Given the description of an element on the screen output the (x, y) to click on. 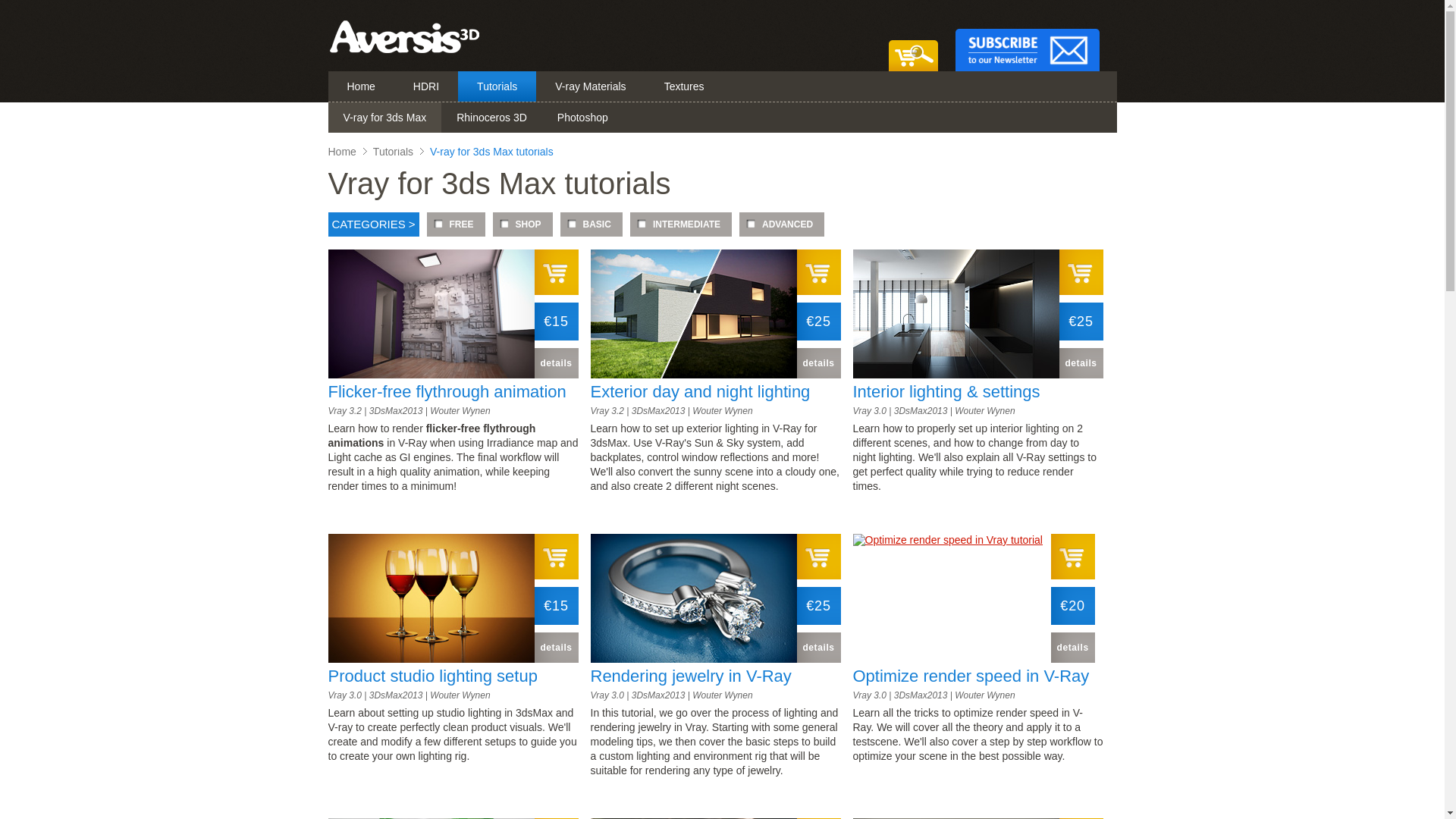
  Element type: text (1073, 556)
details Element type: text (555, 647)
Home Element type: text (341, 152)
Click for more info Element type: hover (692, 374)
details Element type: text (818, 647)
  Element type: text (1080, 271)
  Element type: text (555, 556)
V-ray for 3ds Max Element type: text (384, 117)
Click for more info Element type: hover (692, 658)
details Element type: text (818, 363)
Click for more info Element type: hover (955, 374)
Tutorials Element type: text (393, 152)
Click for more info Element type: hover (430, 658)
  Element type: text (914, 35)
  Element type: text (818, 271)
Flicker-free flythrough animation Element type: text (446, 391)
Rhinoceros 3D Element type: text (491, 117)
Photoshop Element type: text (582, 117)
Exterior day and night lighting Element type: text (699, 391)
details Element type: text (1080, 363)
View your shopping cart Element type: hover (914, 35)
HDRI Element type: text (426, 86)
  Element type: text (555, 271)
  Element type: text (818, 556)
details Element type: text (555, 363)
Tutorials Element type: text (497, 86)
Optimize render speed in V-Ray Element type: text (970, 675)
Product studio lighting setup Element type: text (431, 675)
Rendering jewelry in V-Ray Element type: text (689, 675)
Home Element type: text (360, 86)
Sign up for our Newsletter Element type: hover (1032, 35)
Click for more info Element type: hover (430, 374)
Interior lighting & settings Element type: text (945, 391)
Click for more info Element type: hover (946, 539)
Click to go home Element type: hover (403, 52)
V-ray Materials Element type: text (590, 86)
details Element type: text (1073, 647)
Textures Element type: text (684, 86)
  Element type: text (1032, 35)
